Given the description of an element on the screen output the (x, y) to click on. 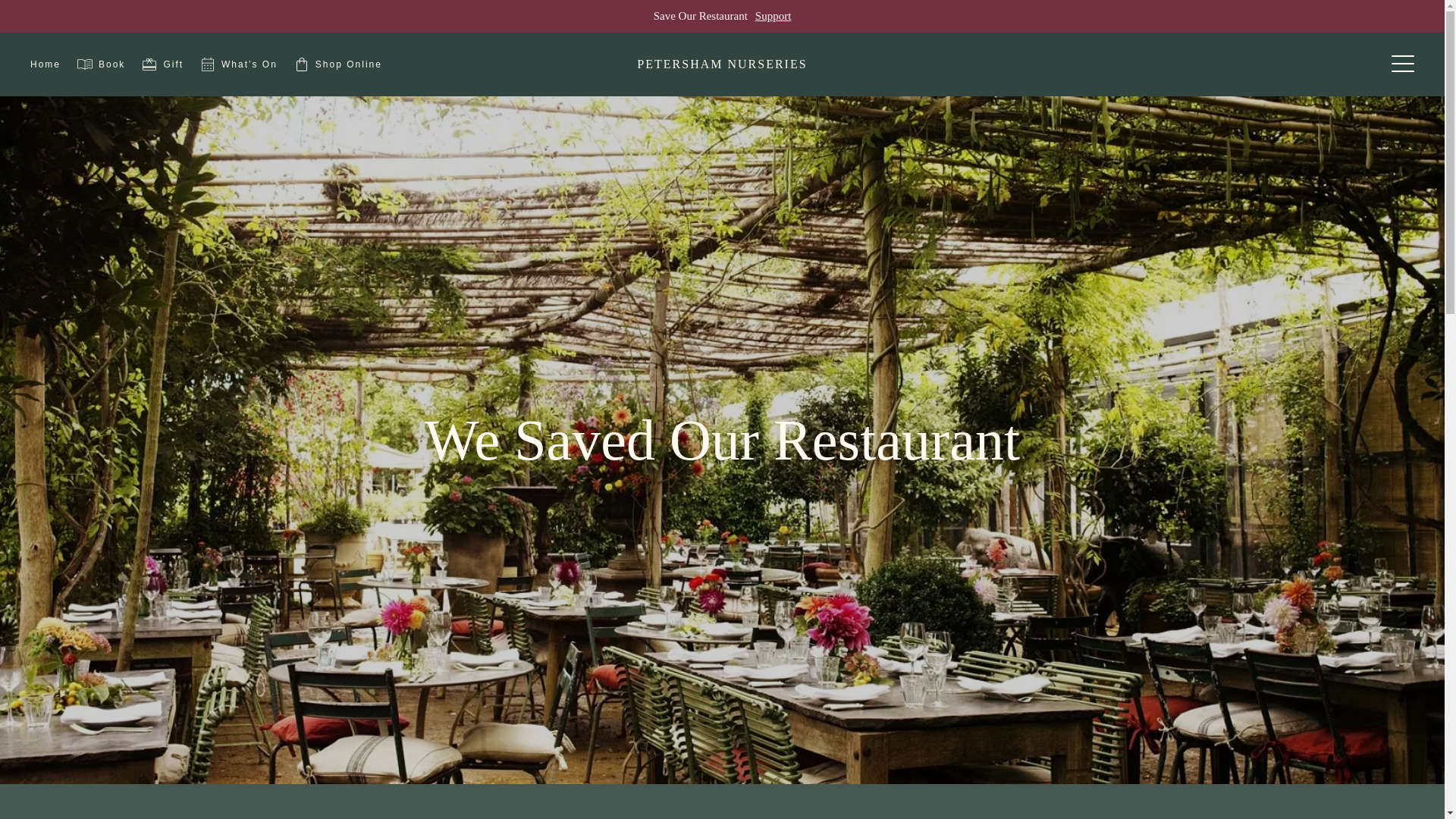
Shop Online (336, 64)
Support (773, 16)
Gift (161, 64)
Home (45, 63)
PETERSHAM NURSERIES (721, 63)
Support (773, 16)
Book (100, 64)
